Given the description of an element on the screen output the (x, y) to click on. 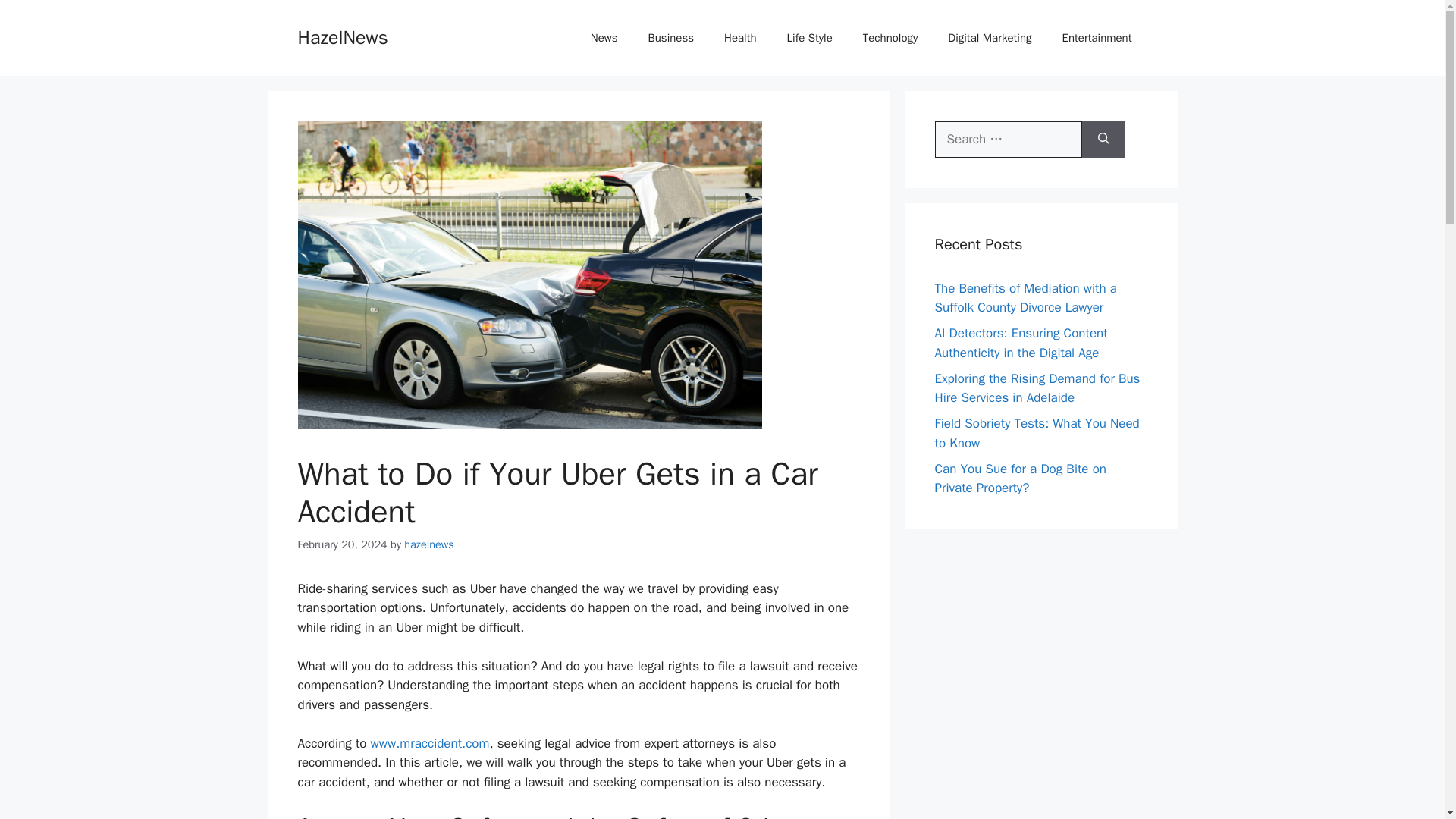
Digital Marketing (989, 37)
HazelNews (342, 37)
News (604, 37)
Health (740, 37)
Search for: (1007, 139)
Can You Sue for a Dog Bite on Private Property? (1019, 478)
Entertainment (1096, 37)
Technology (890, 37)
Field Sobriety Tests: What You Need to Know (1036, 433)
hazelnews (428, 544)
Business (670, 37)
Life Style (809, 37)
